Given the description of an element on the screen output the (x, y) to click on. 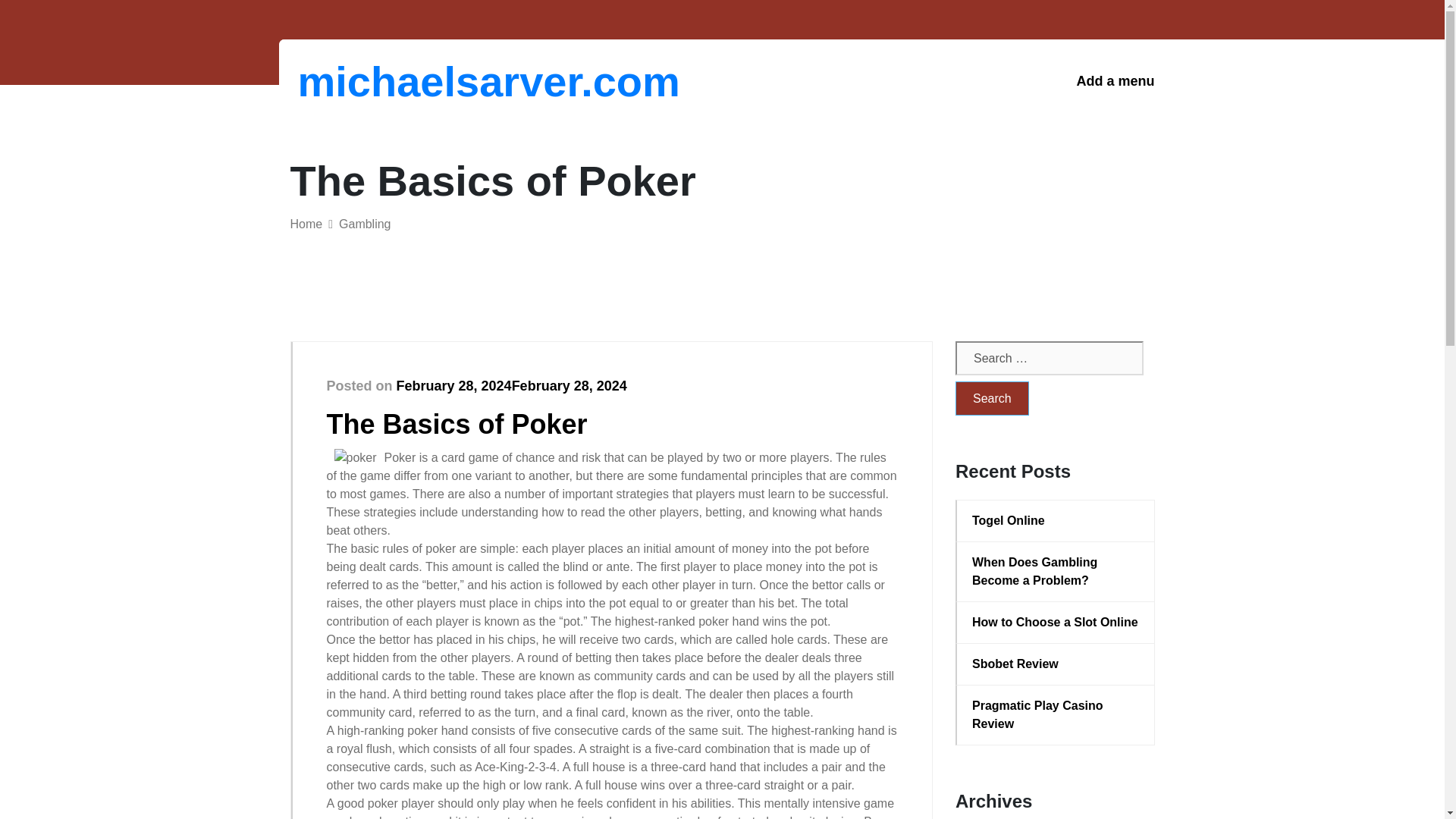
Home (305, 223)
michaelsarver.com (376, 81)
February 28, 2024February 28, 2024 (511, 385)
Togel Online (1055, 520)
Add a menu (1114, 81)
Search (992, 398)
Search (992, 398)
The Basics of Poker (456, 423)
When Does Gambling Become a Problem? (1055, 571)
Pragmatic Play Casino Review (1055, 714)
